Given the description of an element on the screen output the (x, y) to click on. 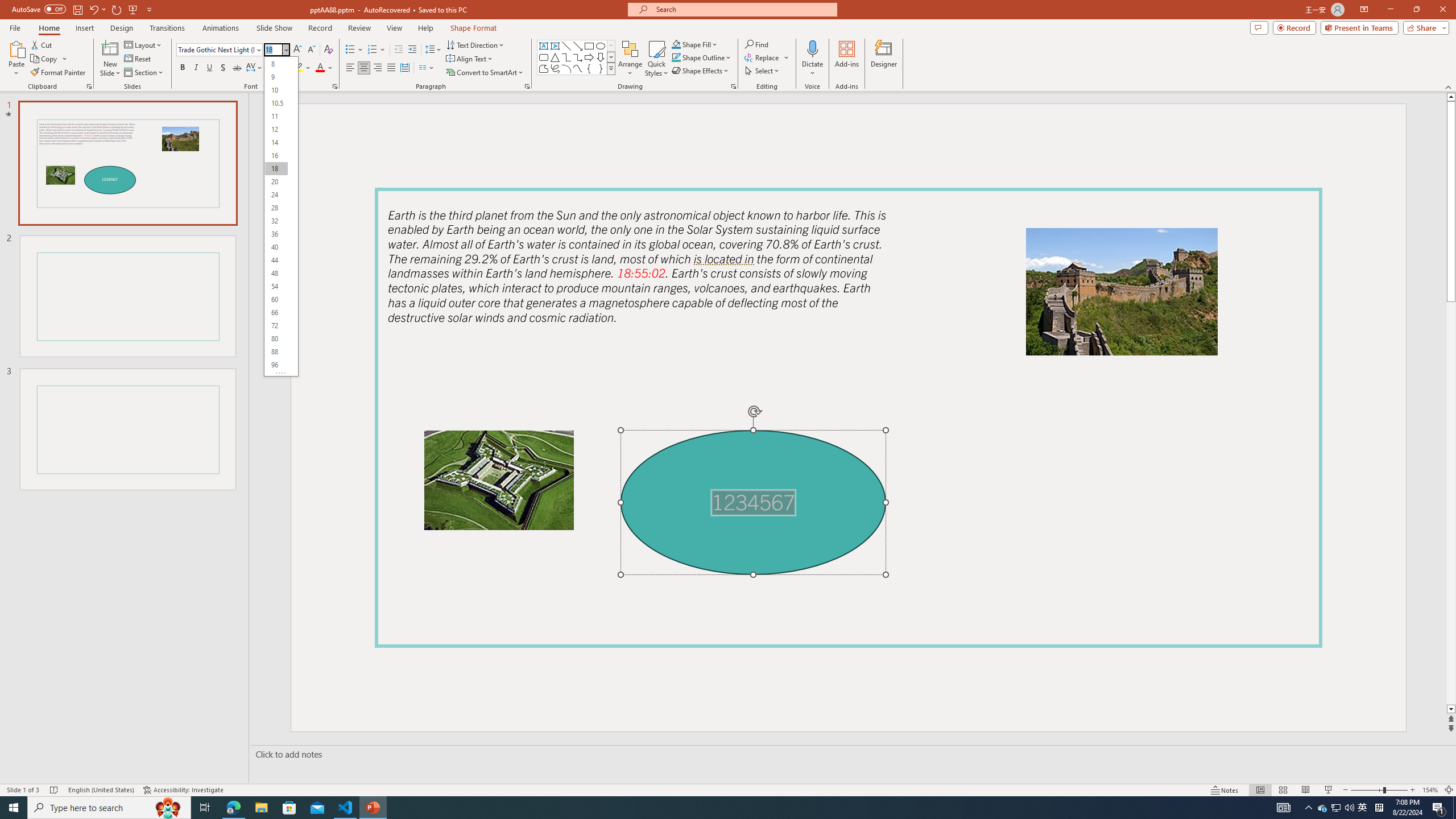
48 (276, 273)
72 (276, 325)
60 (276, 299)
88 (276, 351)
